Given the description of an element on the screen output the (x, y) to click on. 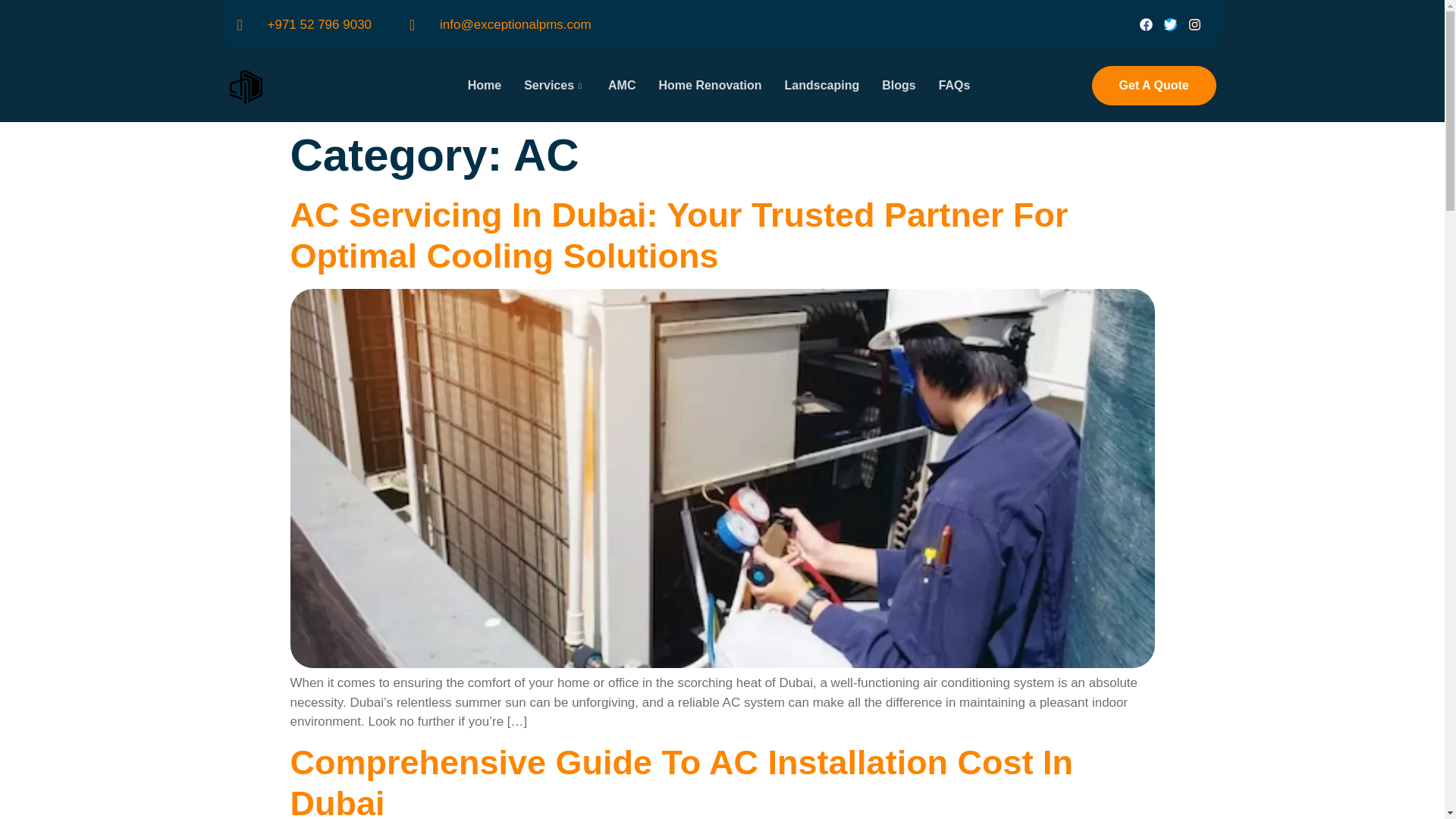
Comprehensive Guide To AC Installation Cost In Dubai (681, 780)
Home Renovation (710, 85)
Services (554, 85)
Get A Quote (1153, 85)
Landscaping (821, 85)
